Given the description of an element on the screen output the (x, y) to click on. 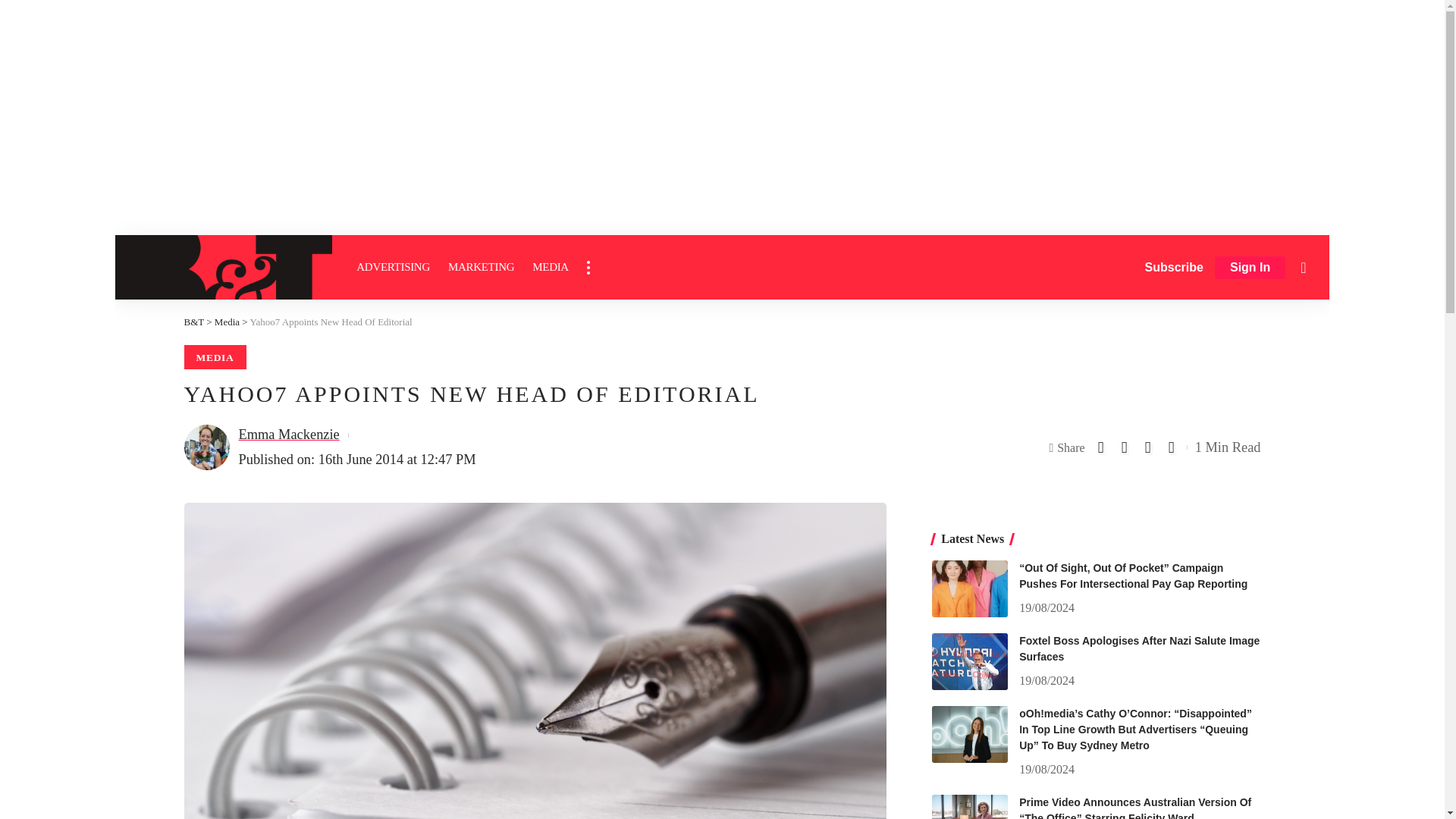
Subscribe (1174, 267)
Go to the Media Category archives. (227, 321)
ADVERTISING (393, 267)
Foxtel Boss Apologises After Nazi Salute Image Surfaces (969, 661)
Sign In (1249, 267)
MARKETING (480, 267)
